Given the description of an element on the screen output the (x, y) to click on. 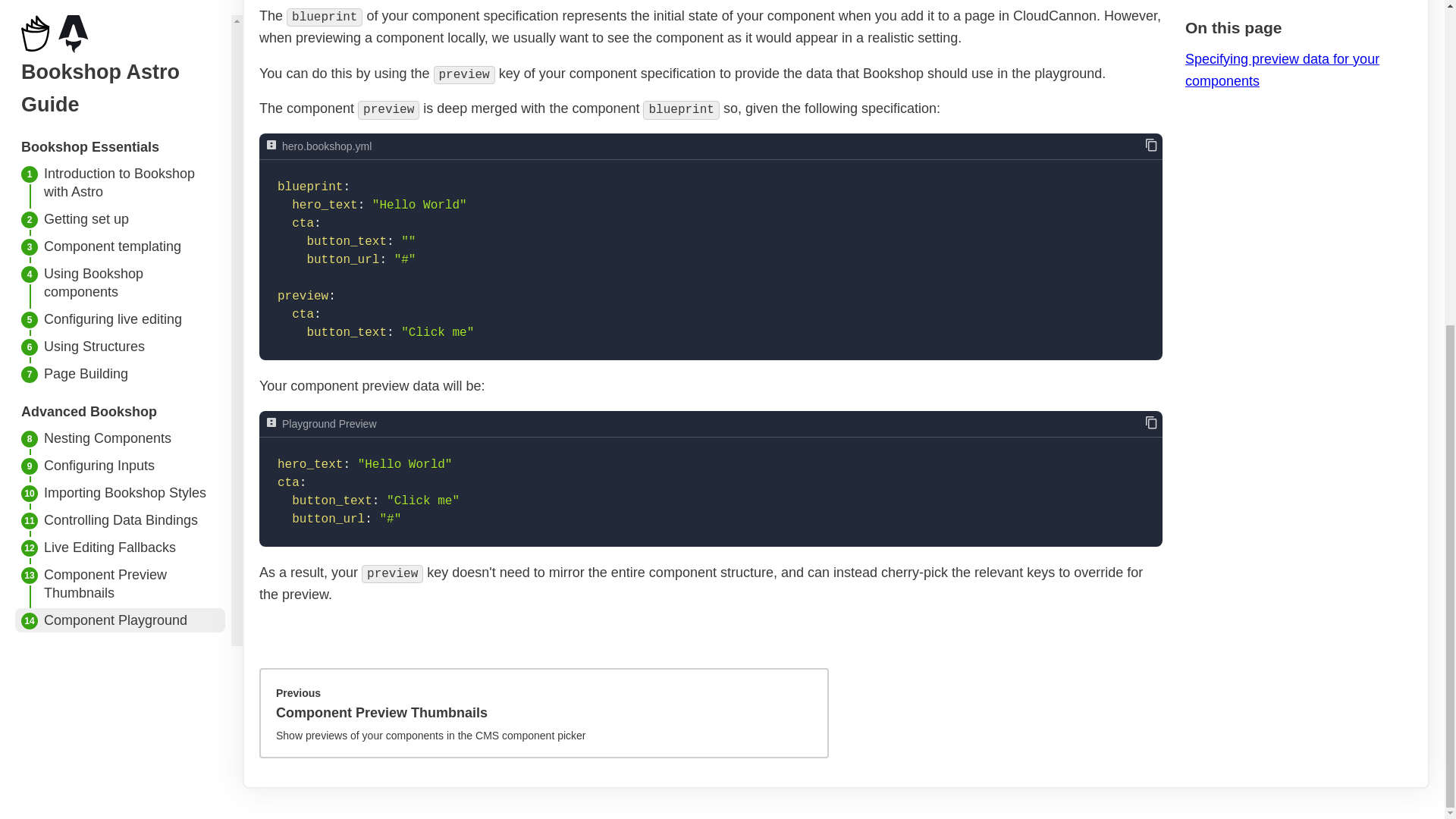
Copy contents (1150, 145)
Copy contents (1150, 423)
